Given the description of an element on the screen output the (x, y) to click on. 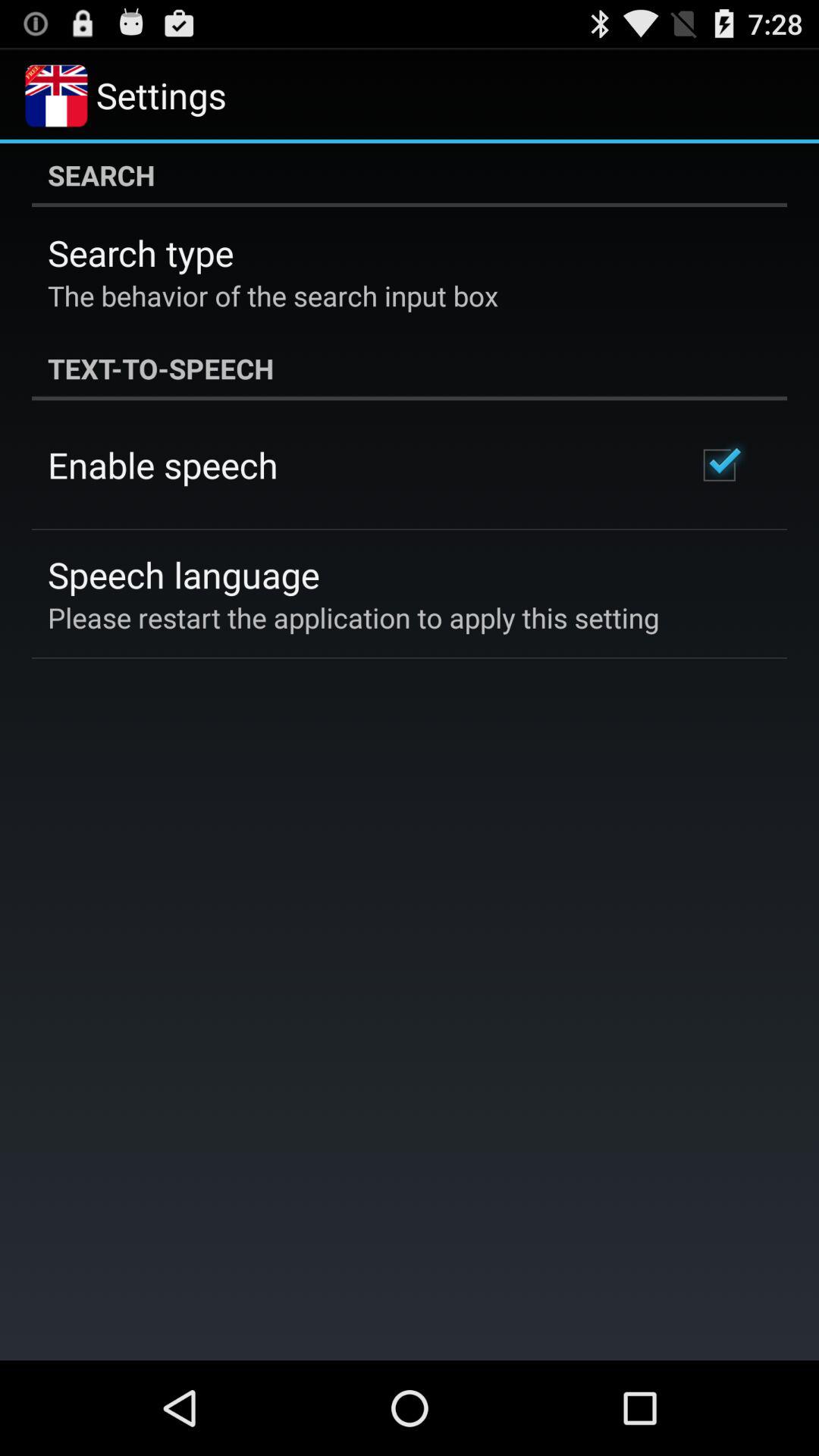
launch app below the search type icon (272, 295)
